Given the description of an element on the screen output the (x, y) to click on. 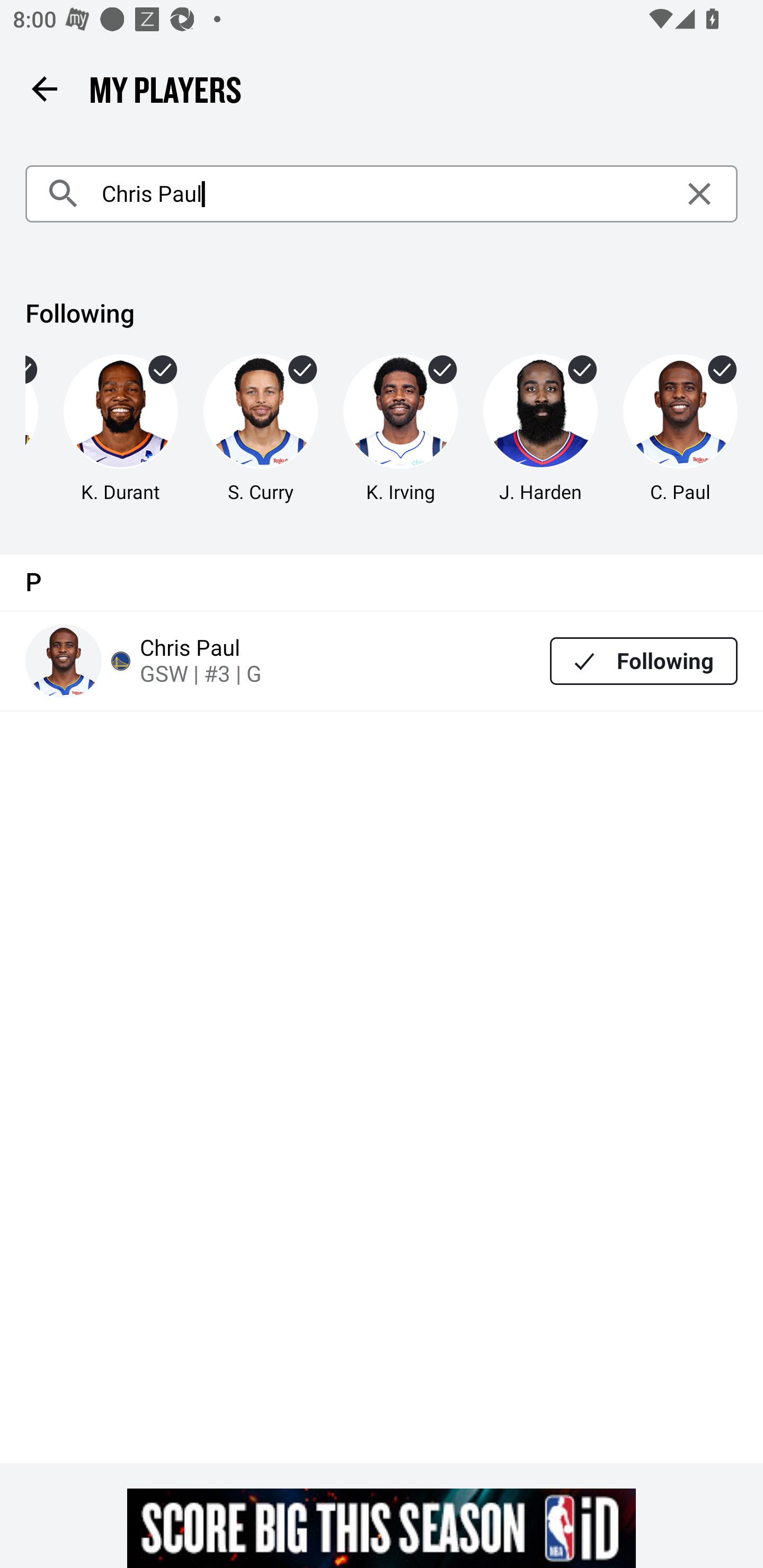
Back button (44, 88)
Chris Paul (381, 193)
Following (643, 660)
g5nqqygr7owph (381, 1528)
